Given the description of an element on the screen output the (x, y) to click on. 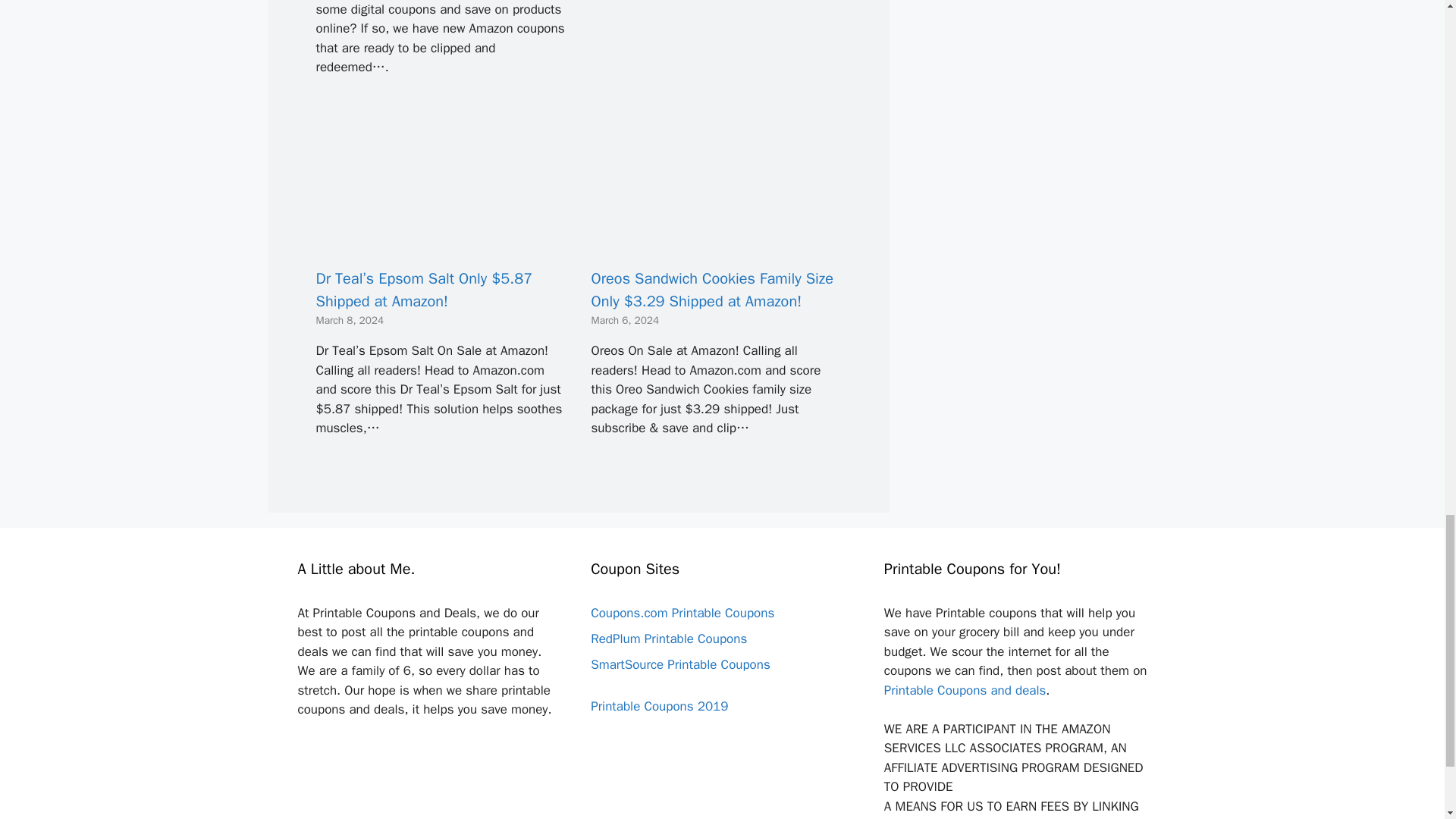
10:50 AM (349, 319)
12:50 PM (625, 319)
